Given the description of an element on the screen output the (x, y) to click on. 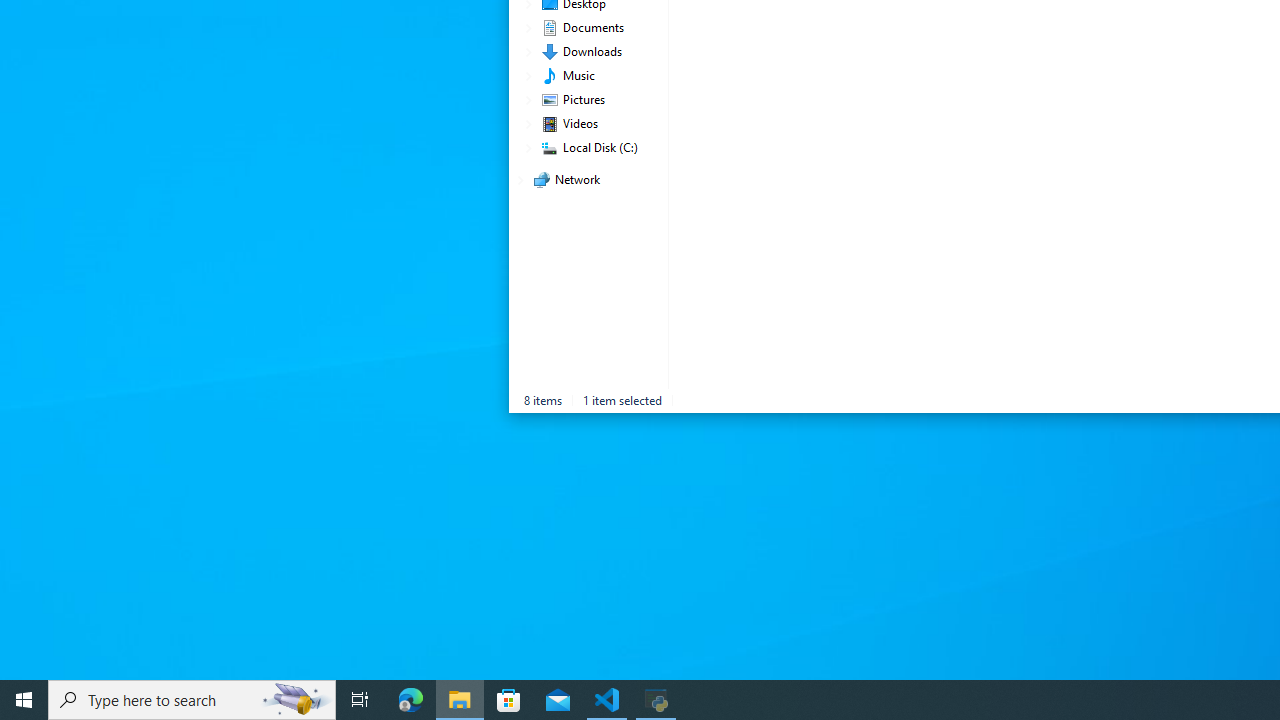
File Explorer - 1 running window (460, 699)
